Given the description of an element on the screen output the (x, y) to click on. 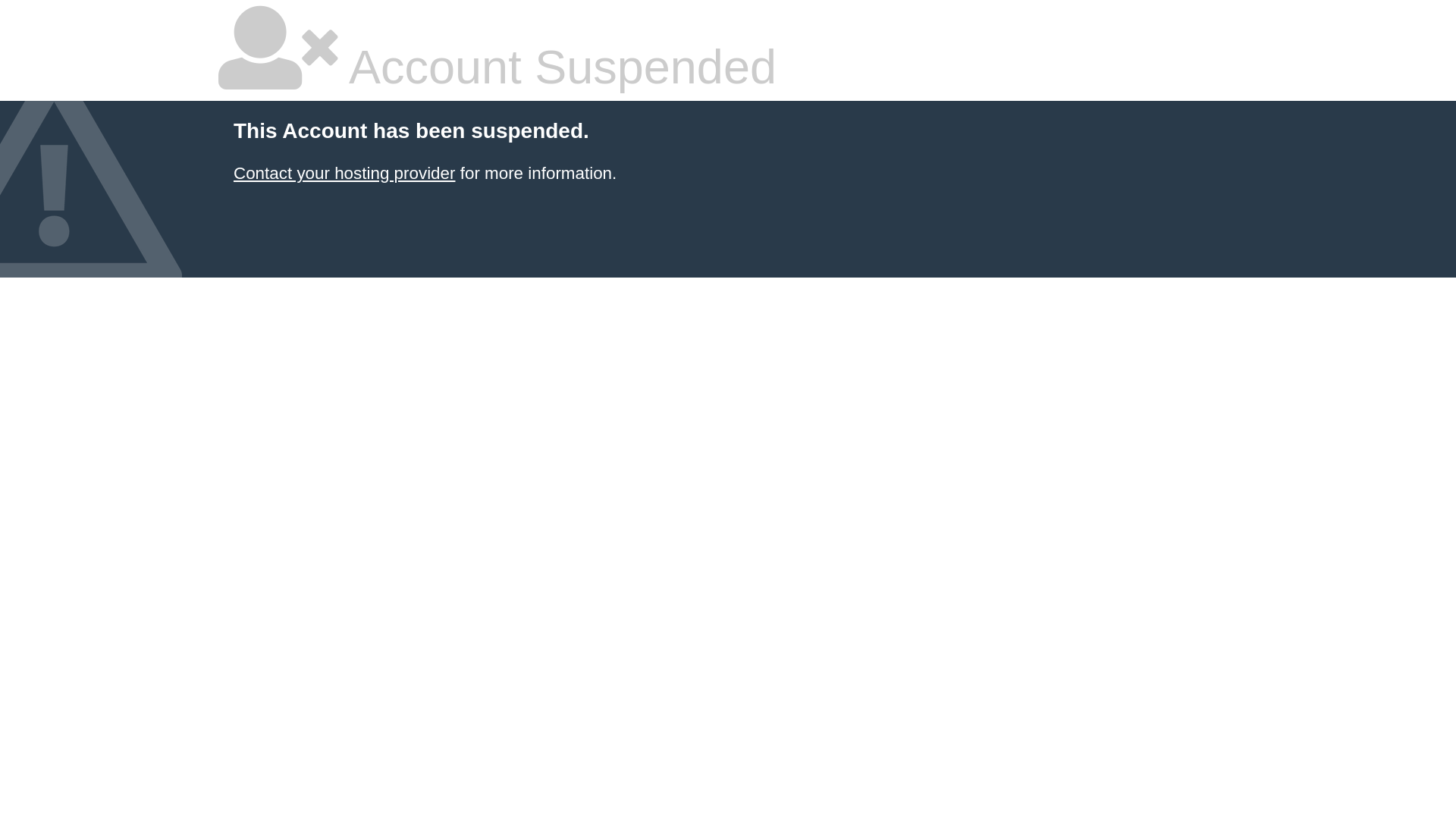
Contact your hosting provider Element type: text (344, 172)
